Given the description of an element on the screen output the (x, y) to click on. 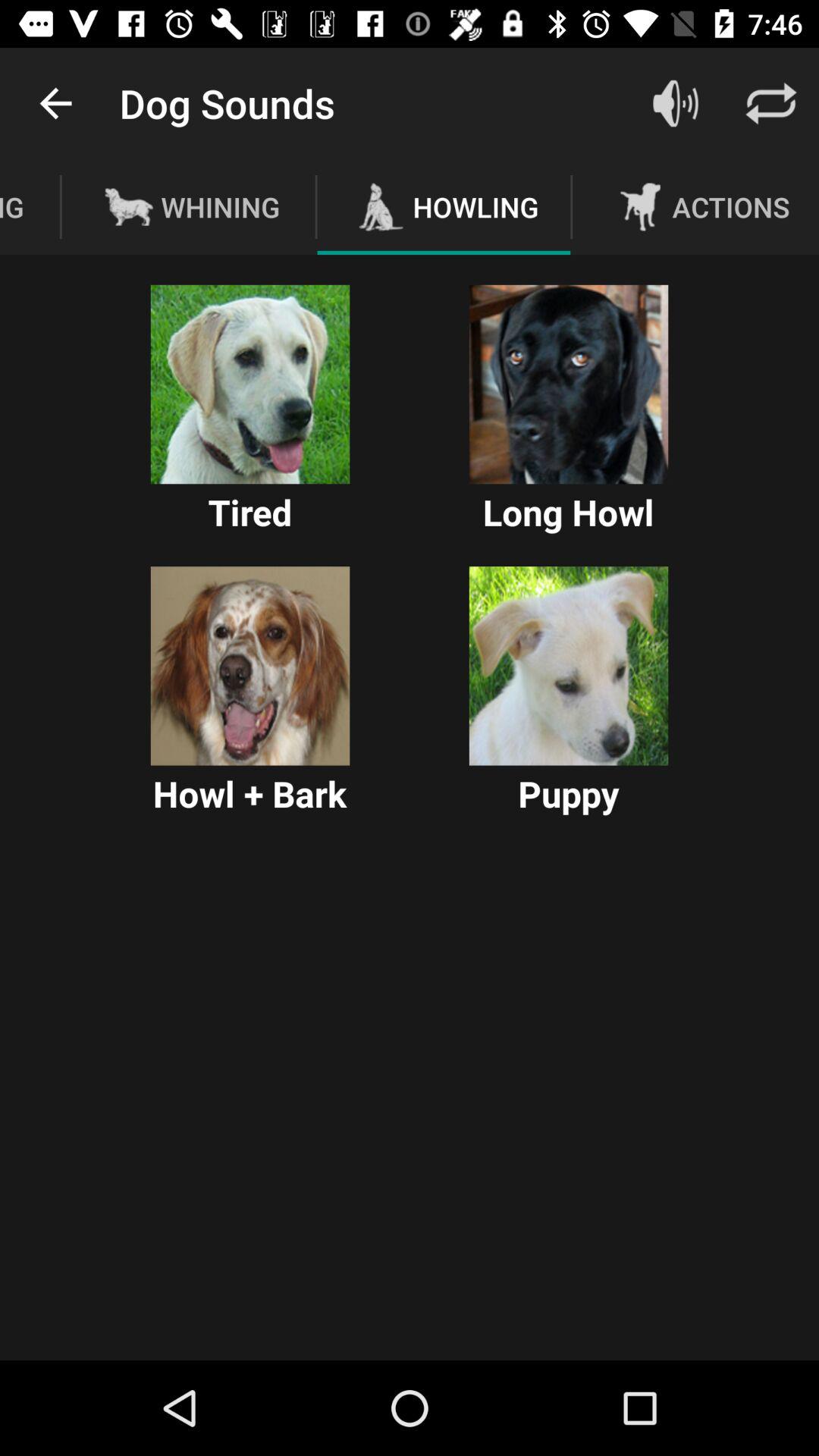
select audio (568, 665)
